Given the description of an element on the screen output the (x, y) to click on. 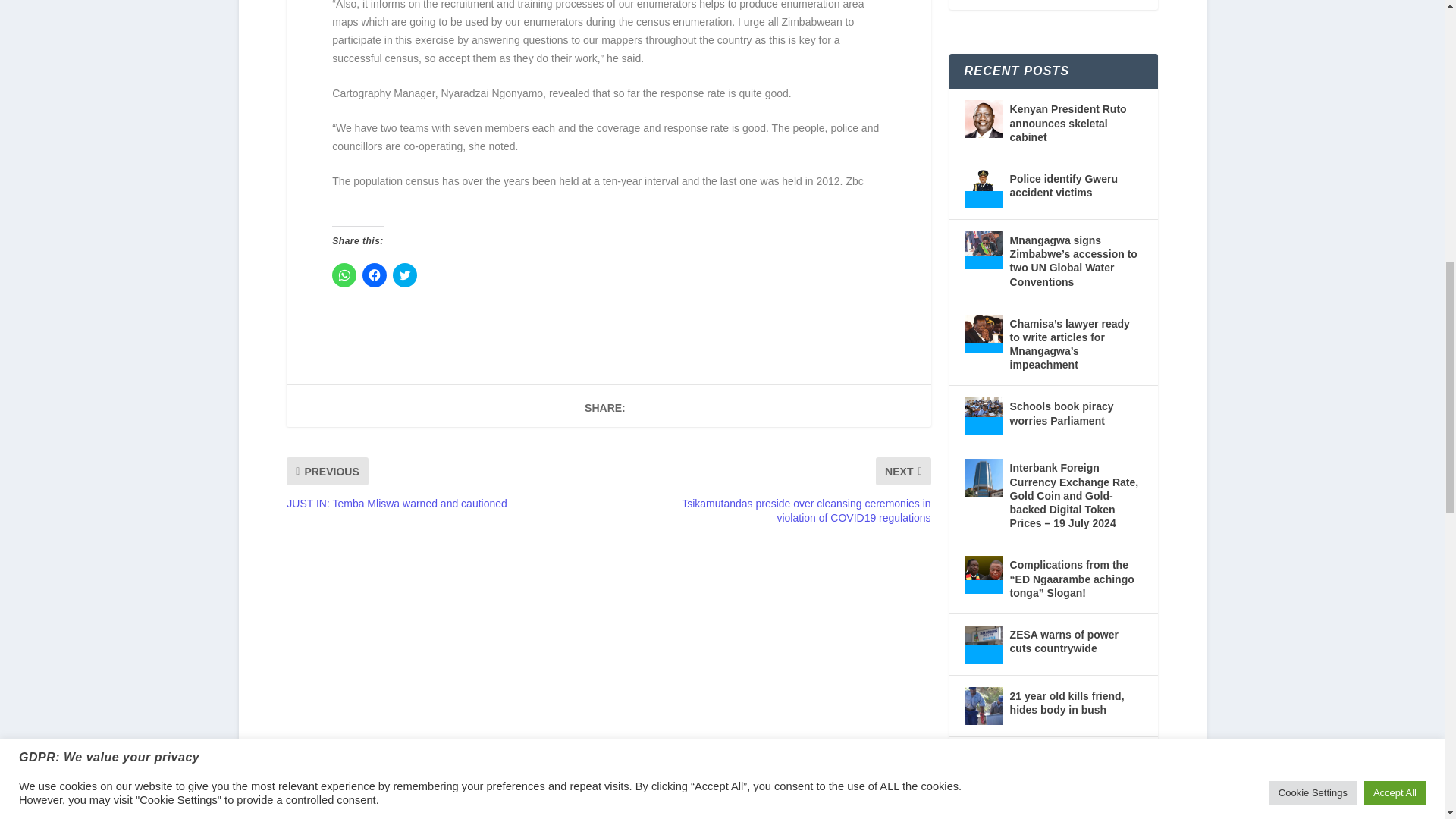
Click to share on Facebook (374, 274)
Click to share on WhatsApp (343, 274)
Click to share on Twitter (404, 274)
